Given the description of an element on the screen output the (x, y) to click on. 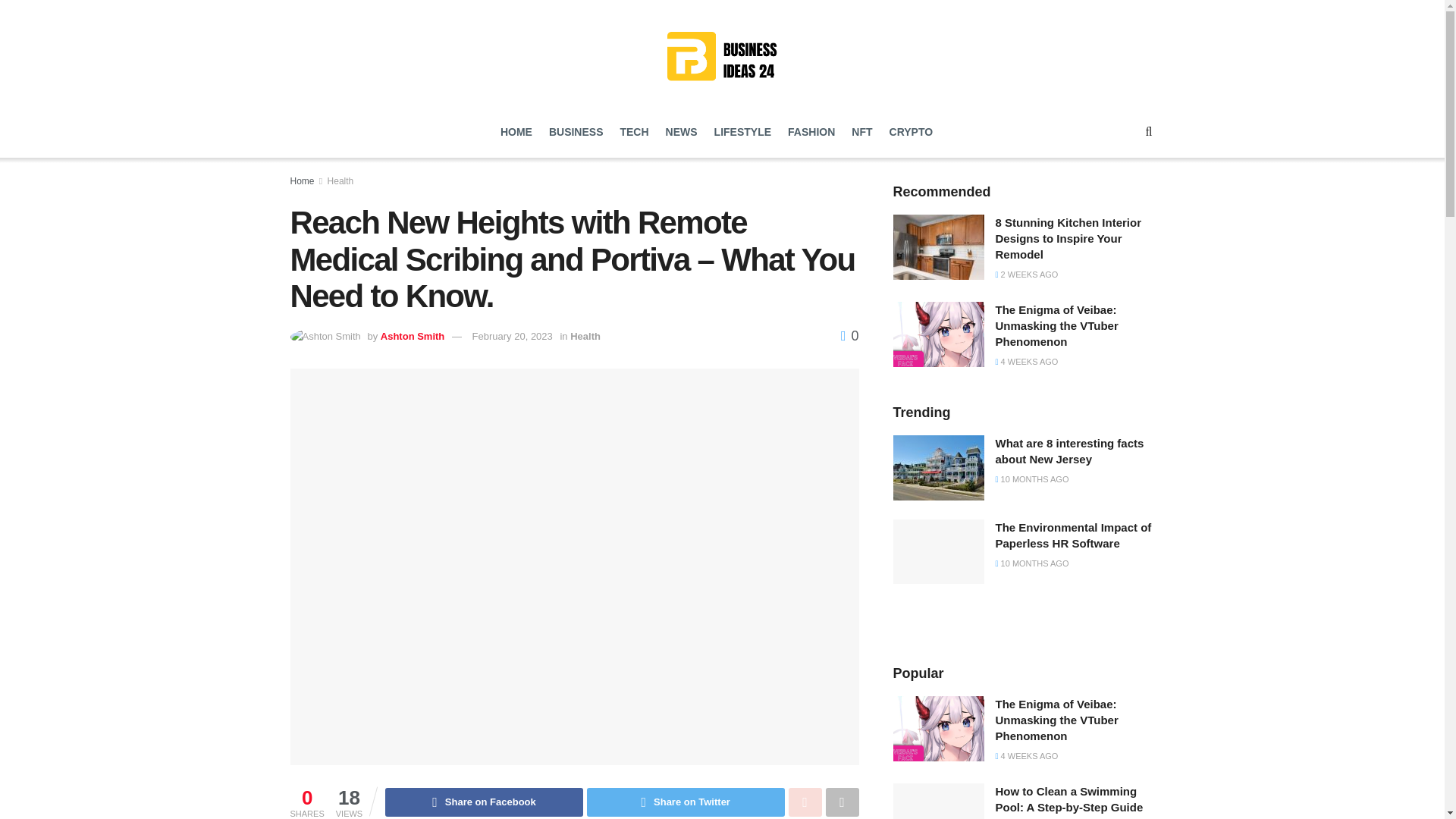
0 (850, 335)
BUSINESS (576, 132)
Home (301, 181)
FASHION (810, 132)
Health (584, 336)
Health (340, 181)
LIFESTYLE (742, 132)
Share on Facebook (484, 801)
Share on Twitter (685, 801)
Ashton Smith (412, 336)
